Given the description of an element on the screen output the (x, y) to click on. 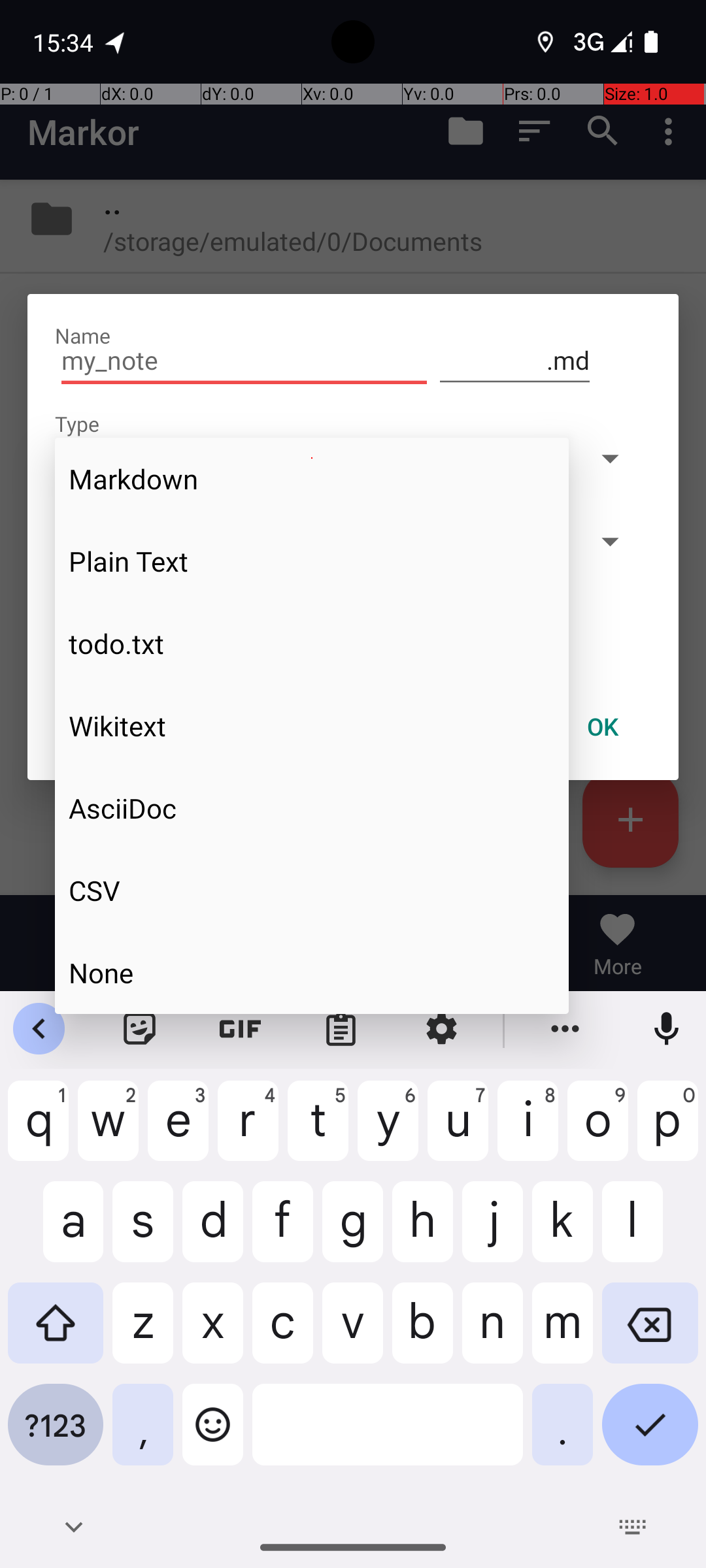
Plain Text Element type: android.widget.TextView (311, 561)
todo.txt Element type: android.widget.TextView (311, 643)
Wikitext Element type: android.widget.TextView (311, 725)
AsciiDoc Element type: android.widget.TextView (311, 808)
CSV Element type: android.widget.TextView (311, 890)
None Element type: android.widget.TextView (311, 972)
